Given the description of an element on the screen output the (x, y) to click on. 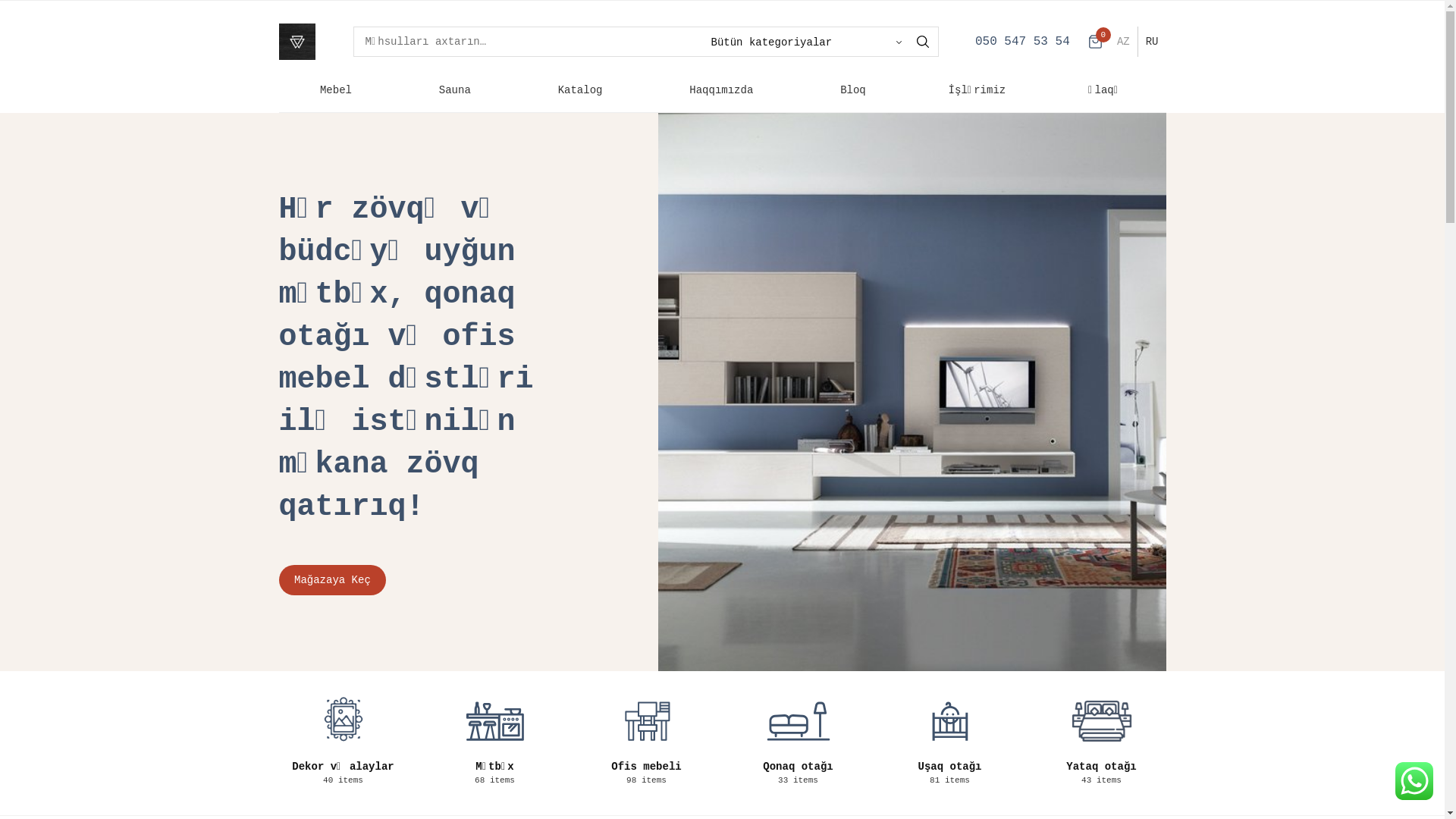
Ofis mebeli
98 items Element type: text (646, 735)
Axtar Element type: text (922, 41)
Katalog Element type: text (582, 90)
RU Element type: text (1152, 41)
comfort.az Element type: hover (297, 41)
Sauna Element type: text (456, 90)
AZ Element type: text (1123, 41)
050 547 53 54 Element type: text (1022, 41)
Mebel Element type: text (338, 90)
Bloq Element type: text (852, 90)
